Given the description of an element on the screen output the (x, y) to click on. 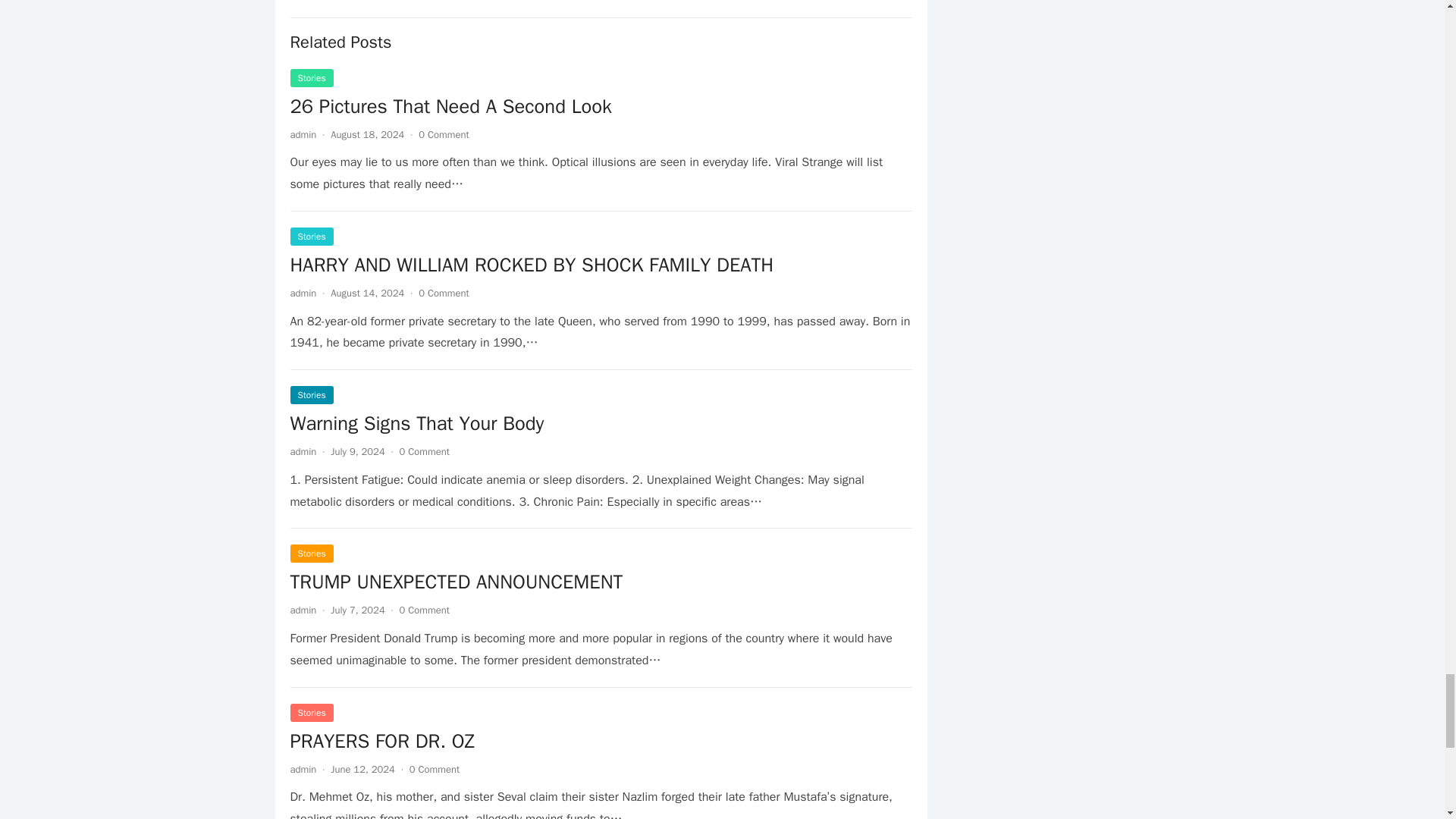
Stories (311, 77)
Posts by admin (302, 292)
Posts by admin (302, 768)
Posts by admin (302, 609)
Stories (311, 394)
0 Comment (443, 133)
HARRY AND WILLIAM ROCKED BY SHOCK FAMILY DEATH (531, 264)
0 Comment (423, 451)
26 Pictures That Need A Second Look (450, 106)
Posts by admin (302, 451)
